Given the description of an element on the screen output the (x, y) to click on. 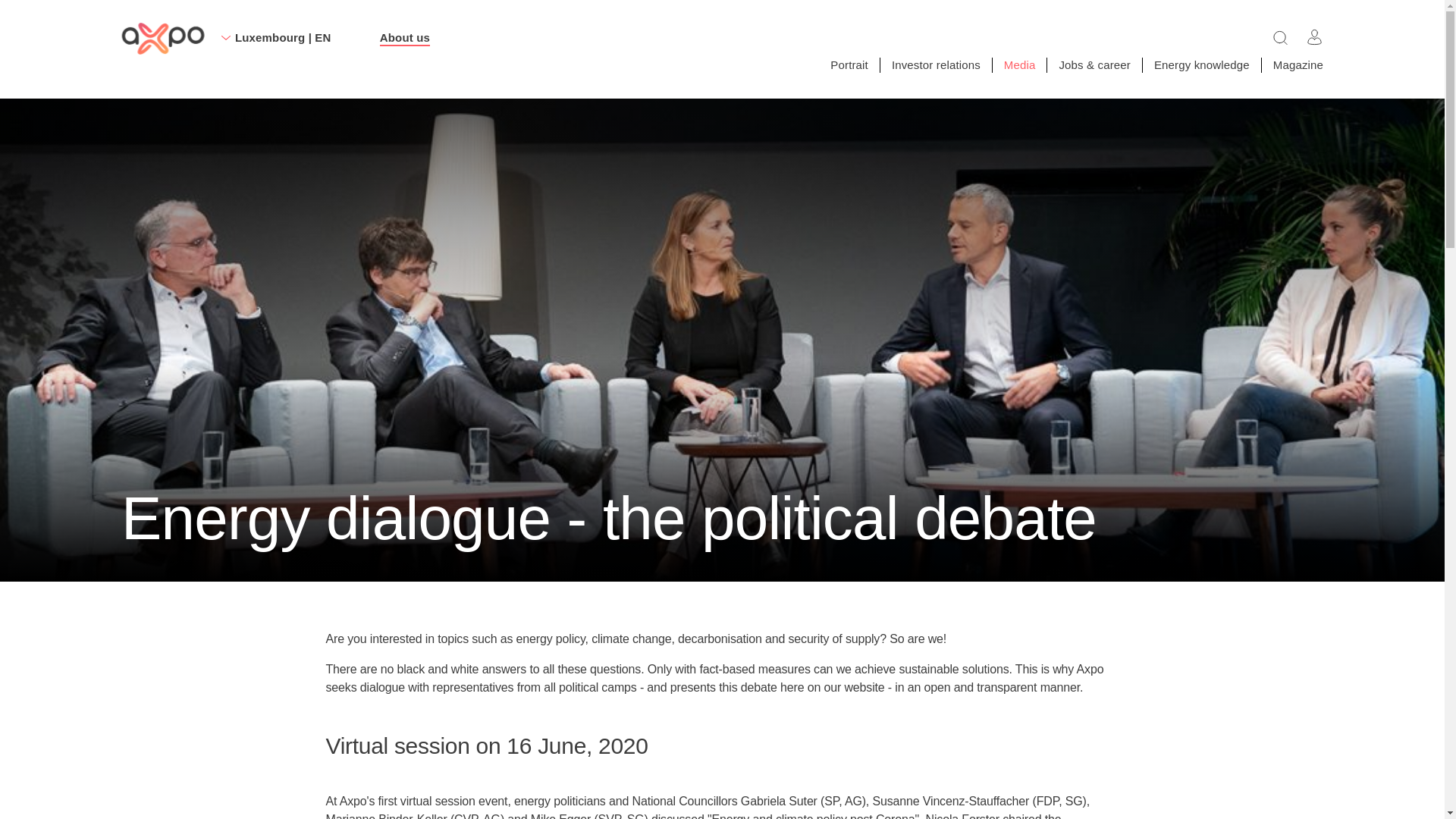
Portrait (848, 64)
Media (1019, 64)
About us (404, 37)
Customer Portal (1314, 36)
About us (162, 40)
Toggle Search Form (1279, 36)
Investor relations (935, 64)
